Given the description of an element on the screen output the (x, y) to click on. 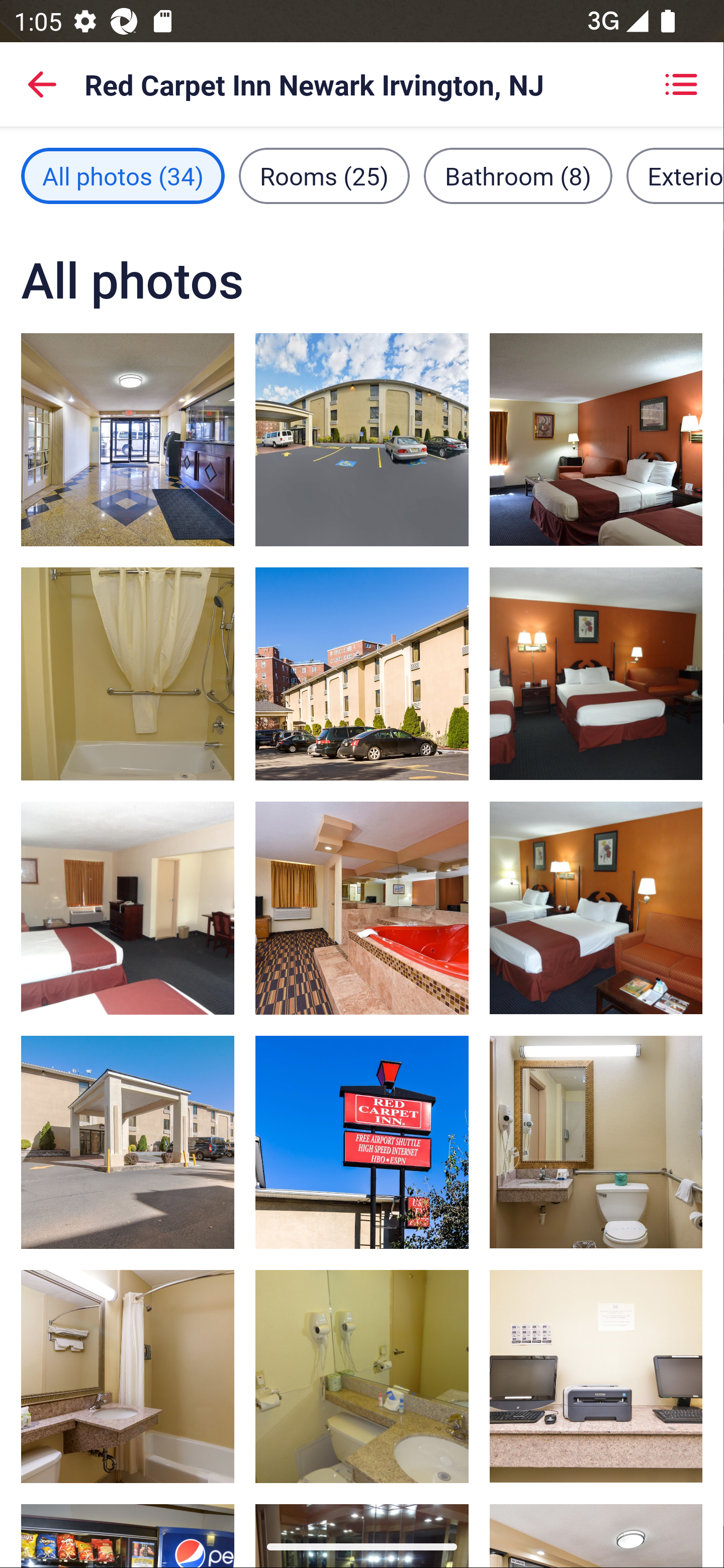
Back (42, 84)
Showing grid view (681, 84)
All photos filter, 34 images (122, 175)
Rooms filter, 25 images (323, 175)
Bathroom filter, 8 images (517, 175)
Interior entrance, image (127, 438)
Property grounds, image (361, 438)
Free self parking, image (361, 673)
Exterior, image (127, 1142)
Exterior, image (361, 1142)
Business center, image (595, 1376)
